Given the description of an element on the screen output the (x, y) to click on. 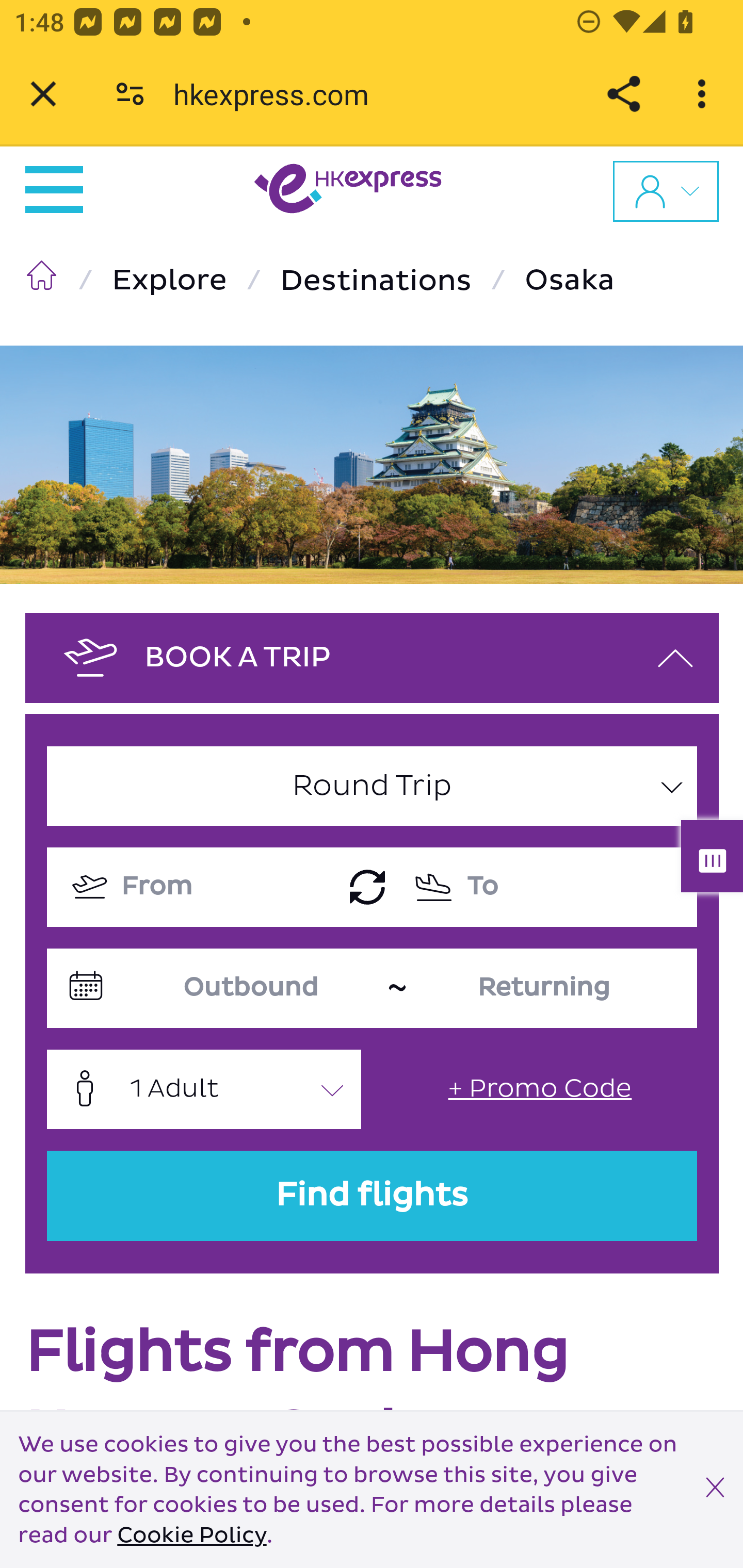
Close tab (43, 93)
Share (623, 93)
Customize and control Google Chrome (705, 93)
Connection is secure (129, 93)
hkexpress.com (278, 93)
HK Express (347, 191)
    (665, 190)
 Home  Home (45, 279)
Destinations  (379, 280)
 BOOK A TRIP  (372, 657)
Round Trip (372, 785)
Find flights (372, 1195)
 (715, 1490)
Cookie Policy (191, 1535)
